Given the description of an element on the screen output the (x, y) to click on. 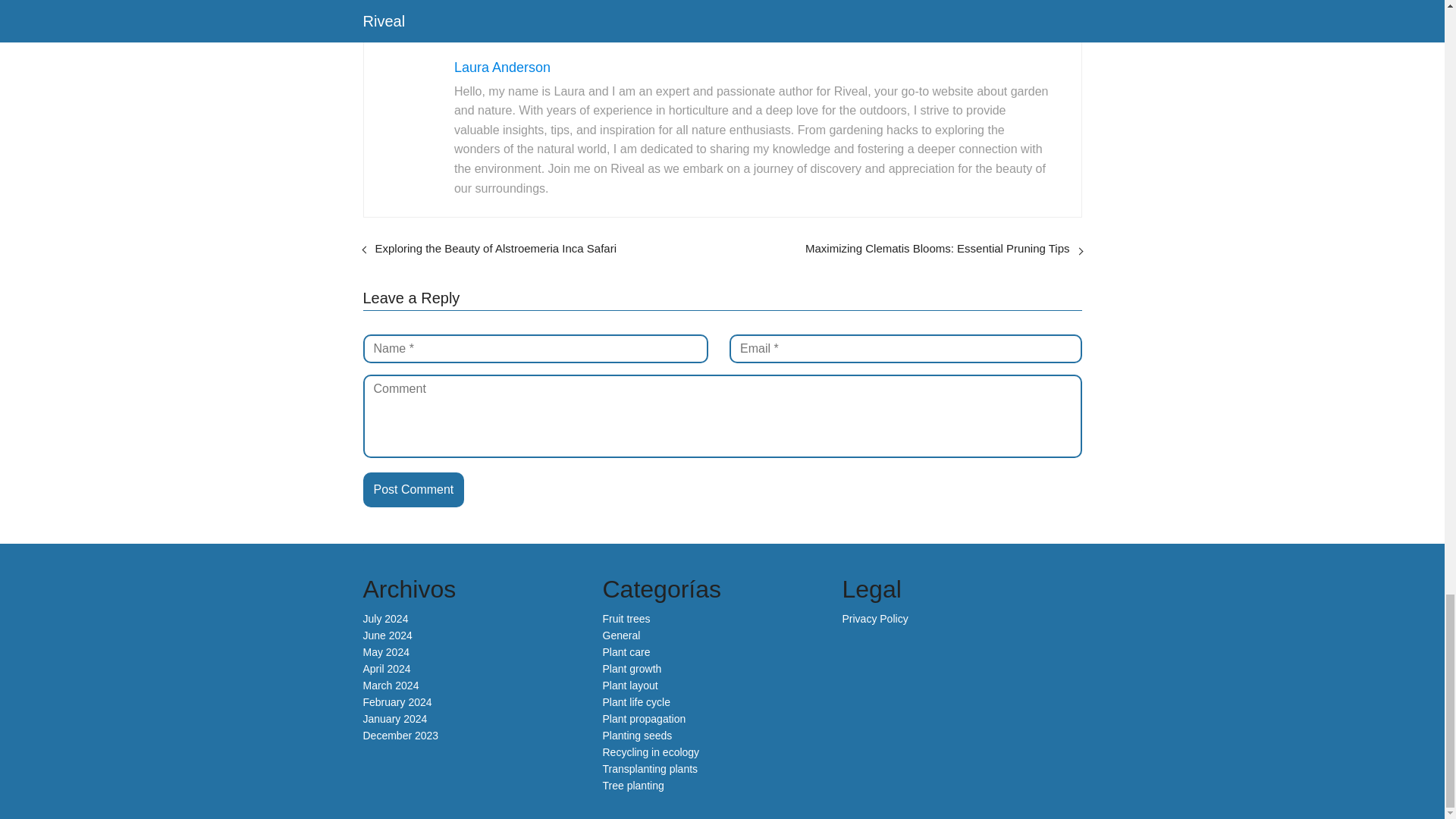
Post Comment (413, 489)
January 2024 (394, 718)
General (621, 635)
Plant propagation (643, 718)
Plant growth (631, 668)
Maximizing Clematis Blooms: Essential Pruning Tips (936, 247)
Planting seeds (636, 735)
Recycling in ecology (650, 752)
Plant care (625, 652)
July 2024 (384, 618)
March 2024 (390, 685)
December 2023 (400, 735)
Tree planting (632, 785)
Privacy Policy (874, 618)
February 2024 (396, 702)
